Given the description of an element on the screen output the (x, y) to click on. 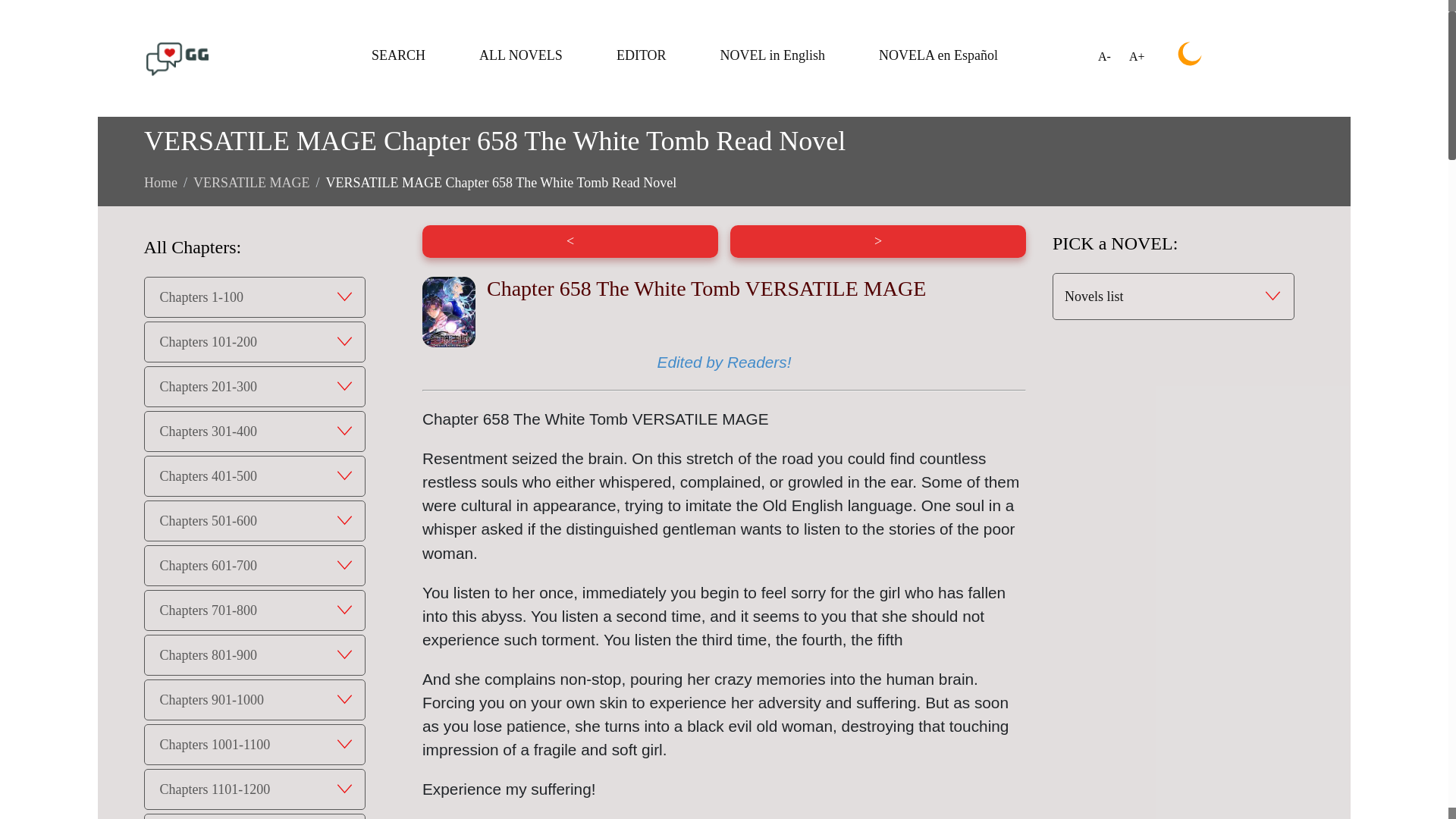
NOVEL in English (772, 55)
Day and Night mode (1189, 53)
VERSATILE MAGE (251, 182)
SEARCH (398, 55)
ALL NOVELS (520, 55)
Home (160, 182)
EDITOR (640, 55)
